Given the description of an element on the screen output the (x, y) to click on. 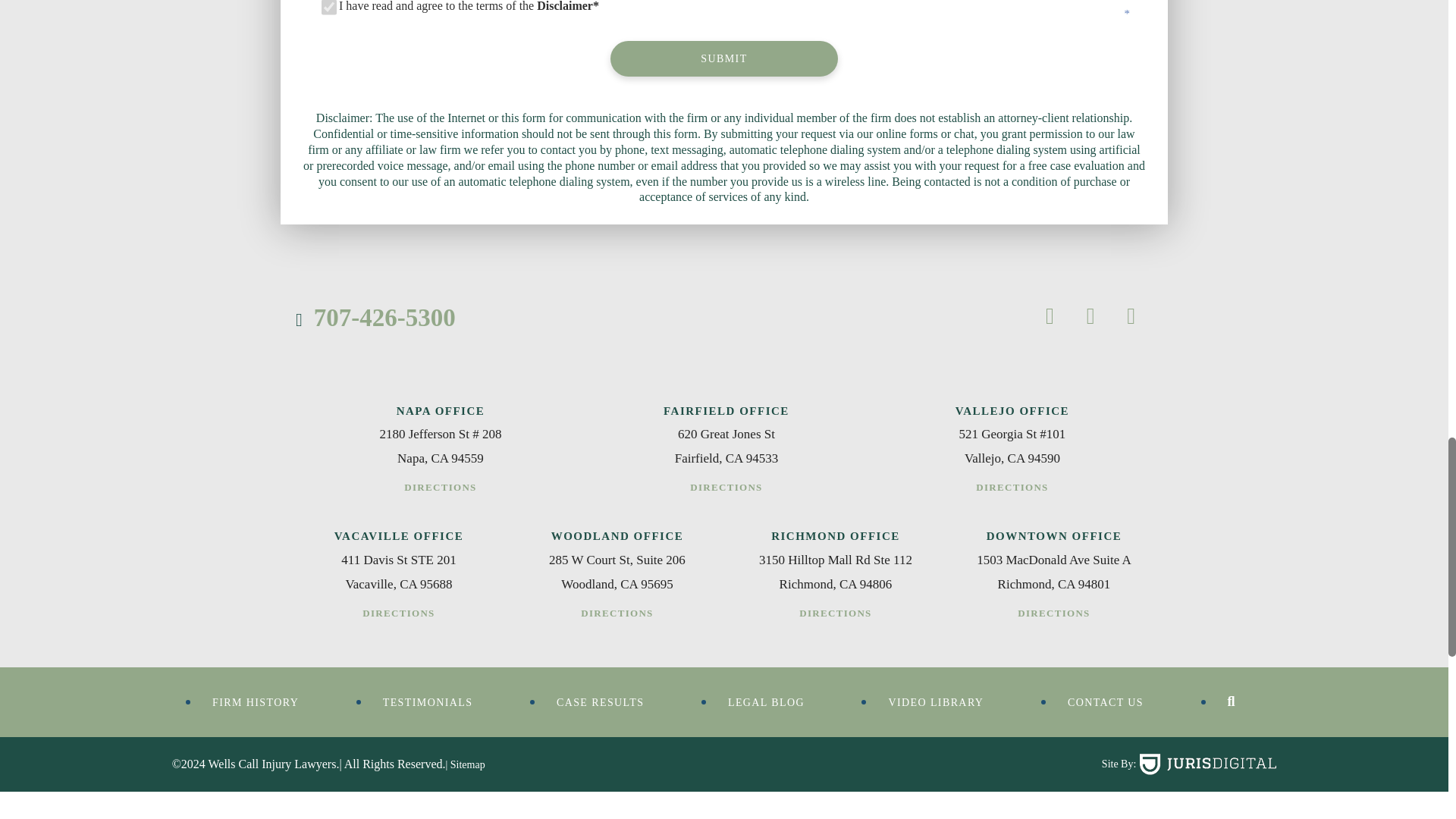
Wells Call Injury Lawyers's sitemap (464, 764)
Site by Juris Digital Law Firm Marketing (1208, 763)
Call Wells Call Injury Lawyers (375, 317)
